Given the description of an element on the screen output the (x, y) to click on. 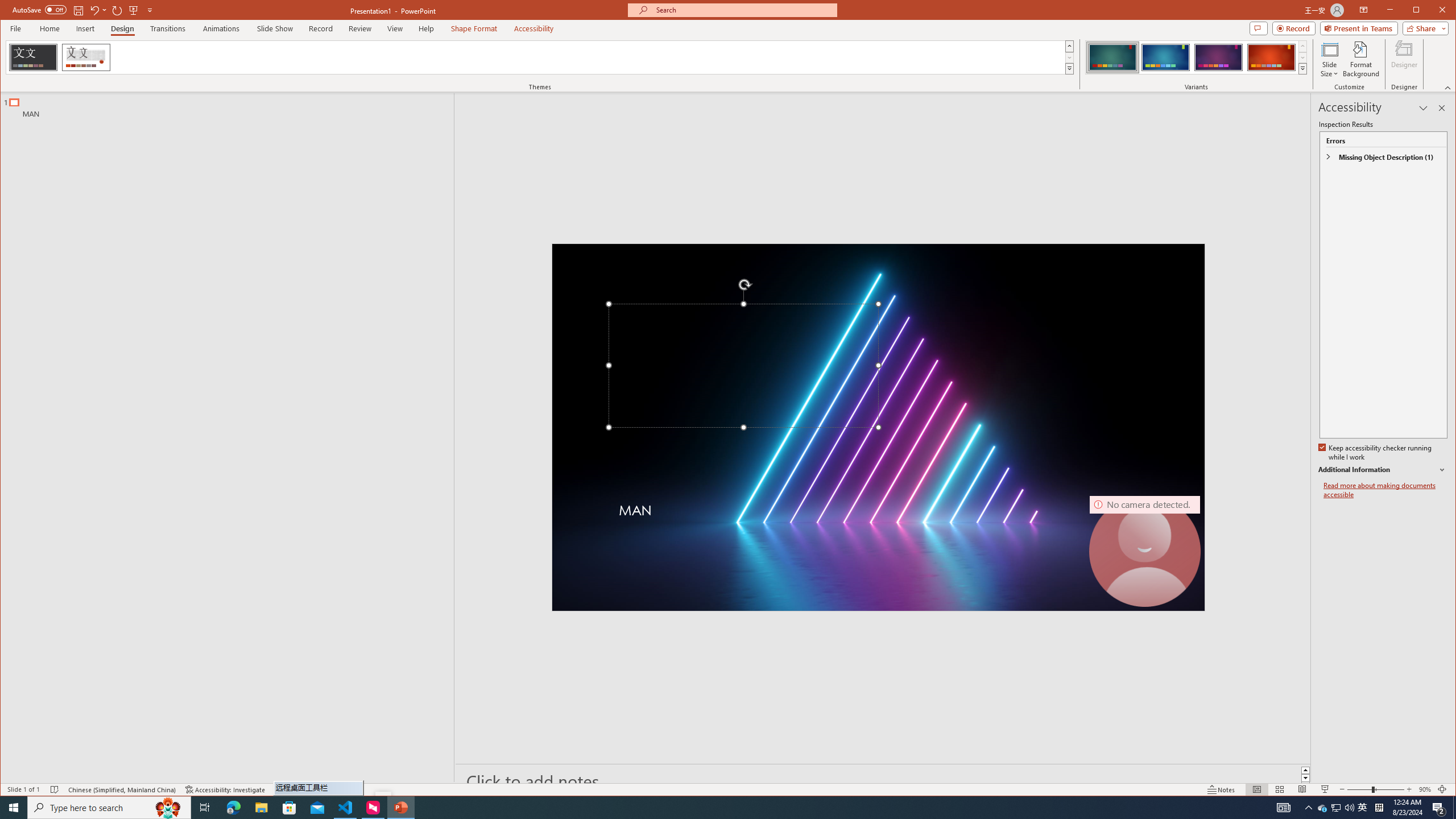
Ion Variant 4 (1270, 57)
AutomationID: ThemeVariantsGallery (1196, 57)
